Given the description of an element on the screen output the (x, y) to click on. 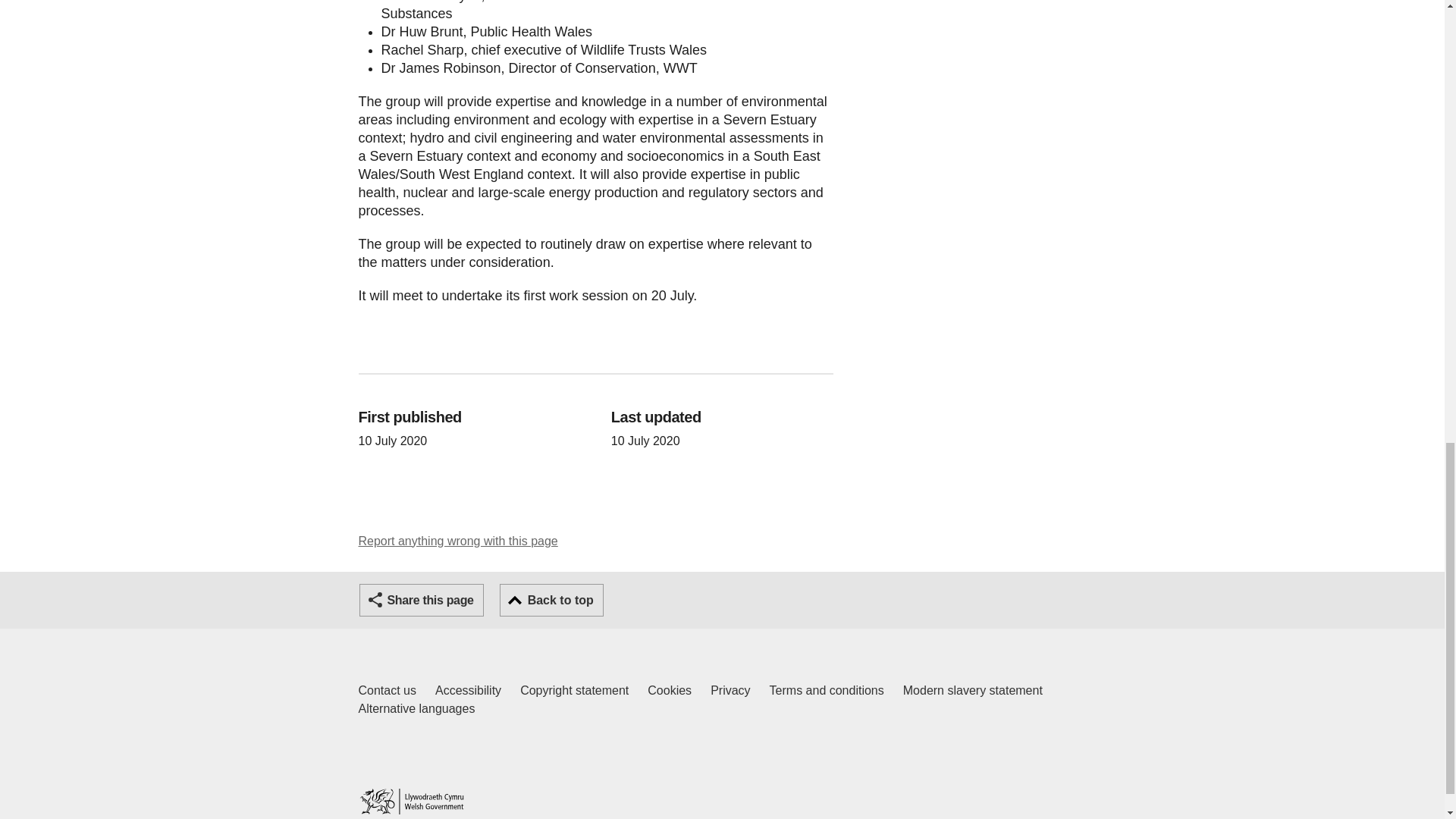
Home (411, 801)
Modern slavery statement (972, 690)
Accessibility (467, 690)
Share this page (421, 599)
Alternative languages (416, 709)
Cookies (669, 690)
Copyright statement (386, 690)
Back to top (573, 690)
Privacy (551, 599)
